Given the description of an element on the screen output the (x, y) to click on. 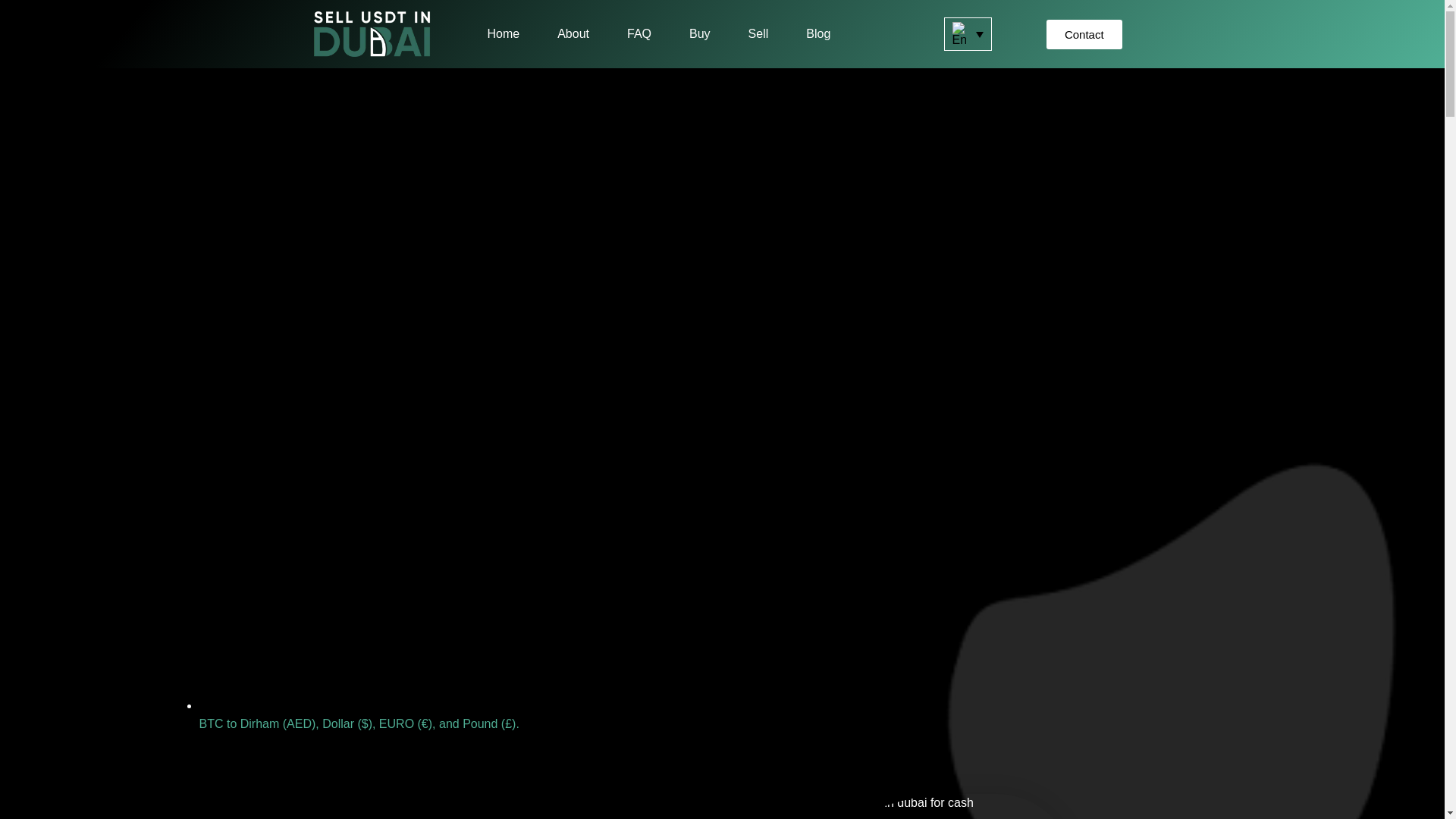
Contact (1084, 34)
FAQ (638, 33)
Sell Btc In Dubai For Cash (900, 806)
Buy (699, 33)
Home (502, 33)
Sell (758, 33)
About (573, 33)
Blog (817, 33)
